Given the description of an element on the screen output the (x, y) to click on. 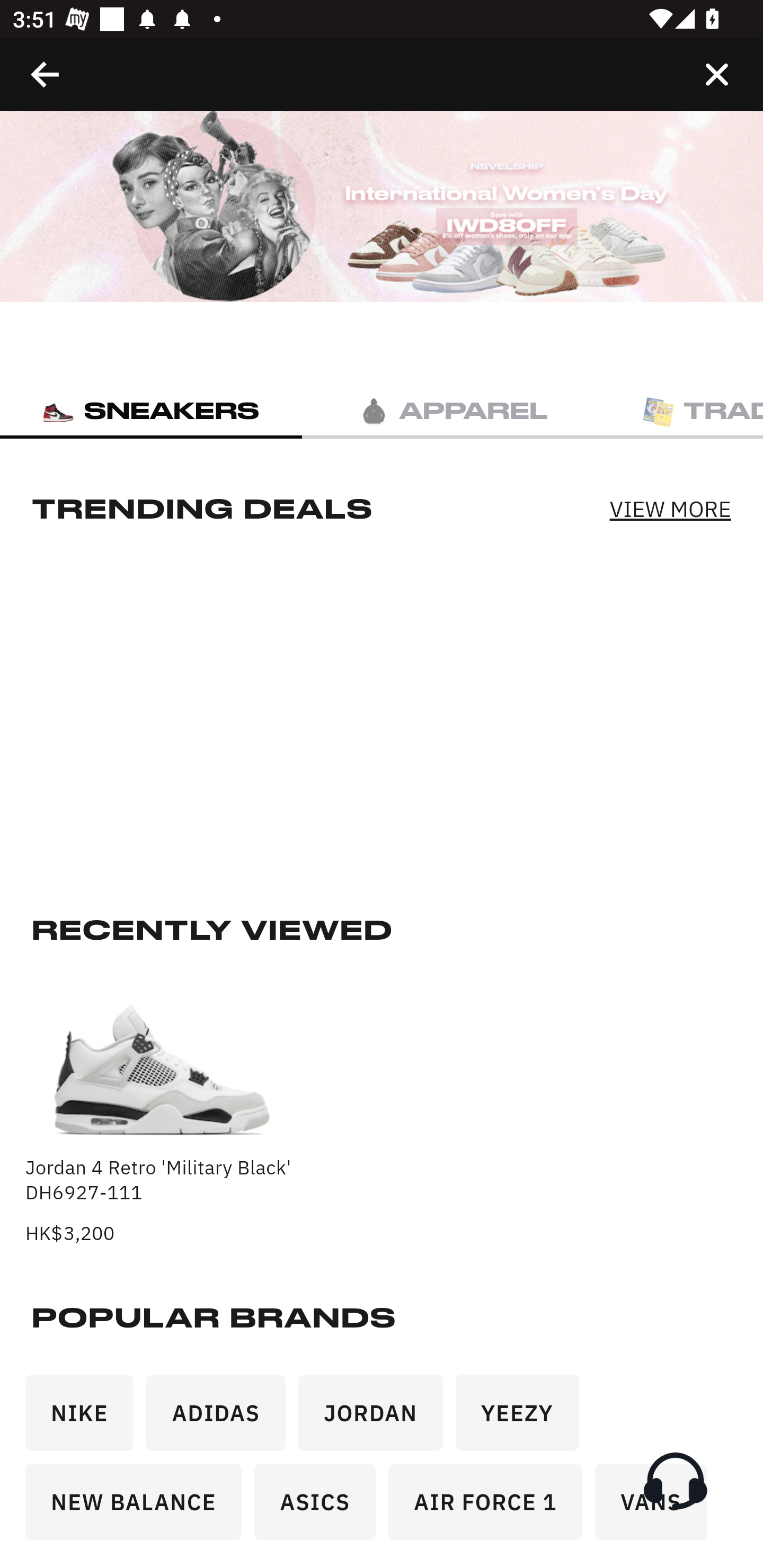
 (46, 74)
 (716, 74)
International Women's Day (381, 206)
SNEAKERS (151, 410)
APPAREL (453, 410)
TRADING CARDS (683, 410)
VIEW MORE (669, 507)
NIKE (86, 1418)
ADIDAS (222, 1418)
JORDAN (376, 1418)
YEEZY (523, 1418)
Nova Your Virtual Assistant! button (674, 1480)
NEW BALANCE (140, 1507)
ASICS (321, 1507)
AIR FORCE 1 (491, 1507)
VANS (657, 1507)
